Given the description of an element on the screen output the (x, y) to click on. 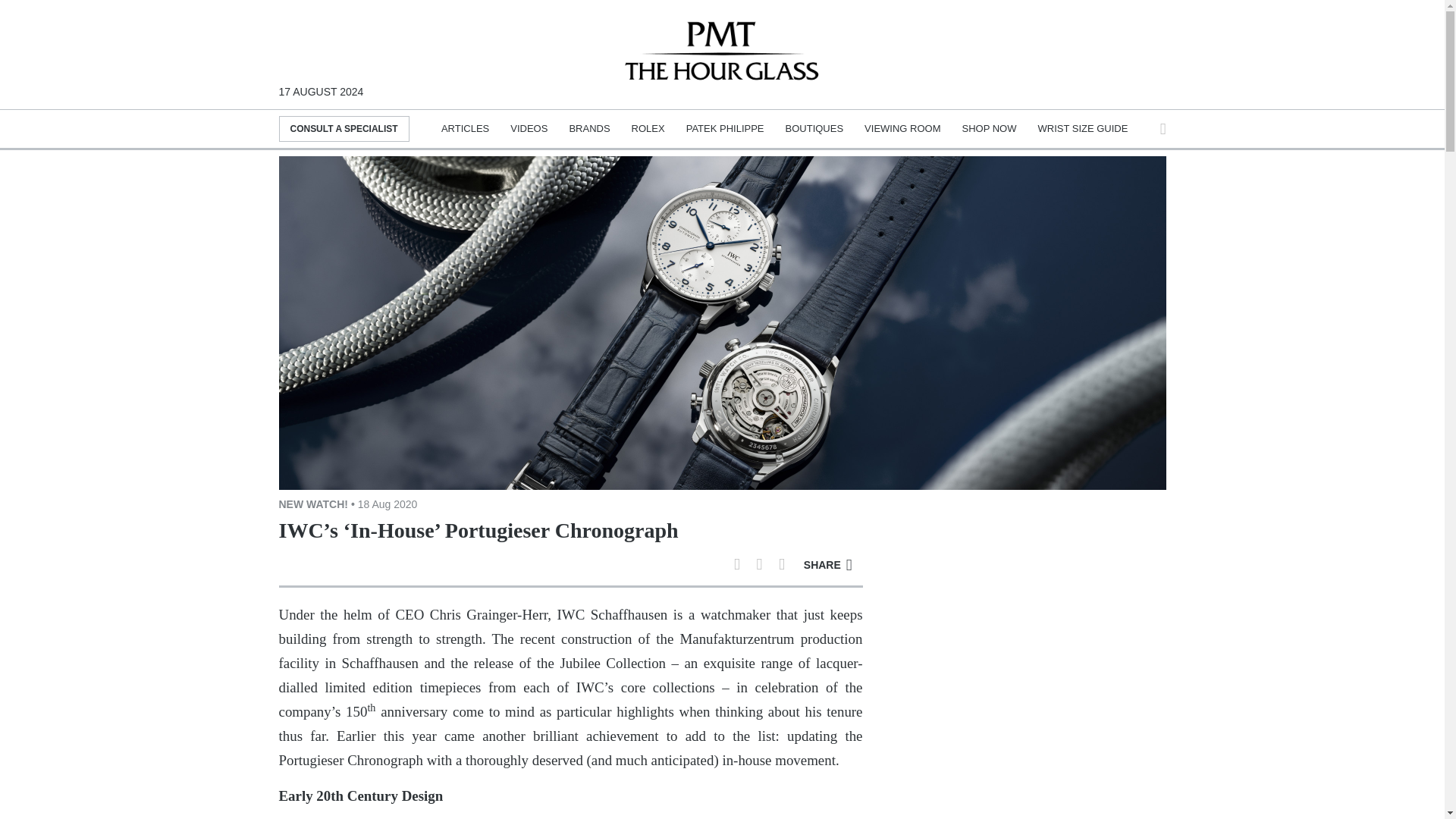
PATEK PHILIPPE (724, 128)
Rolex Clock (1108, 36)
CONSULT A SPECIALIST (344, 128)
VIDEOS (529, 128)
ARTICLES (465, 128)
VIEWING ROOM (902, 128)
WRIST SIZE GUIDE (1081, 128)
BRANDS (589, 128)
SHOP NOW (988, 128)
SHARE (828, 564)
